Given the description of an element on the screen output the (x, y) to click on. 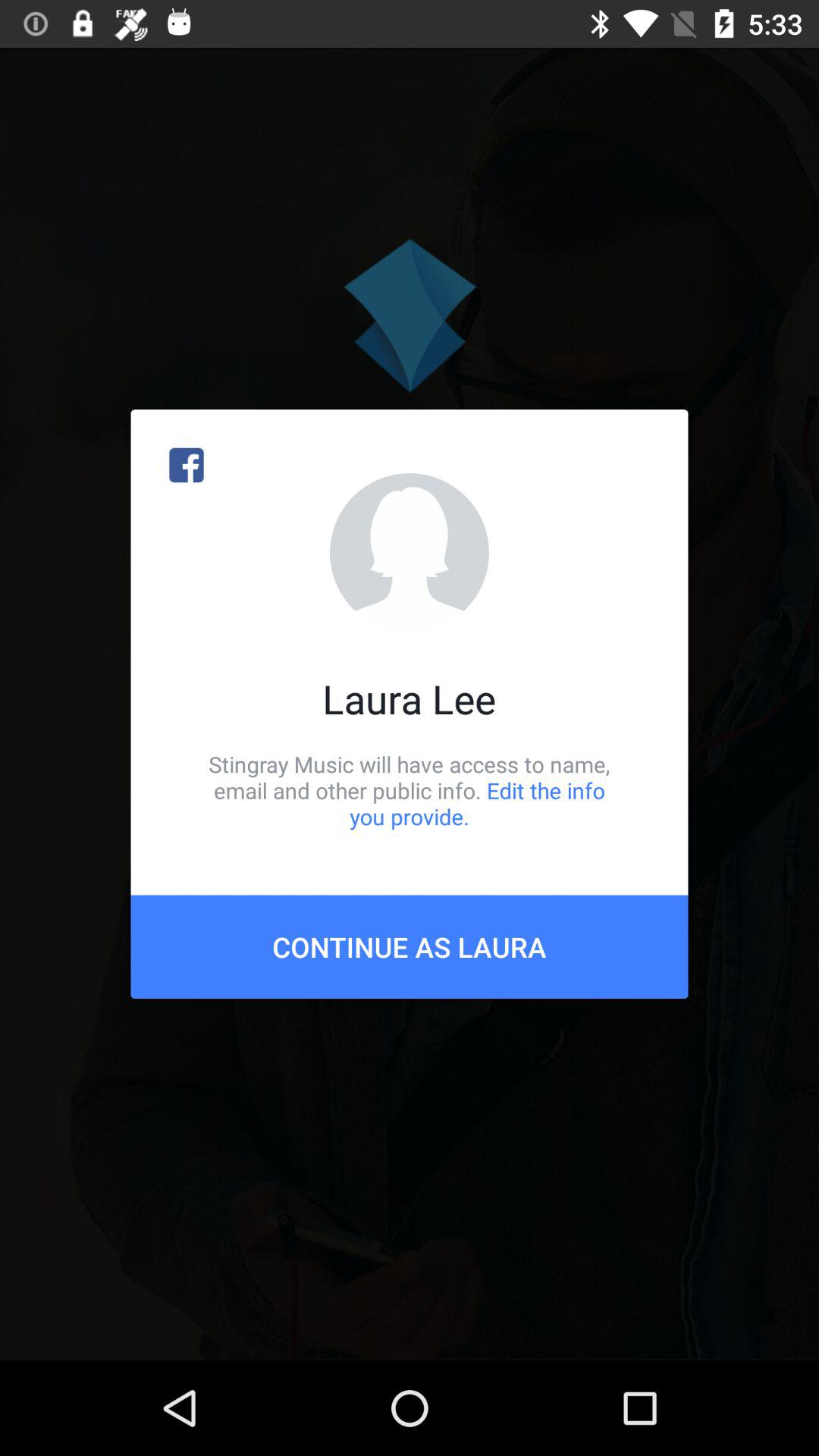
select item below the stingray music will (409, 946)
